Given the description of an element on the screen output the (x, y) to click on. 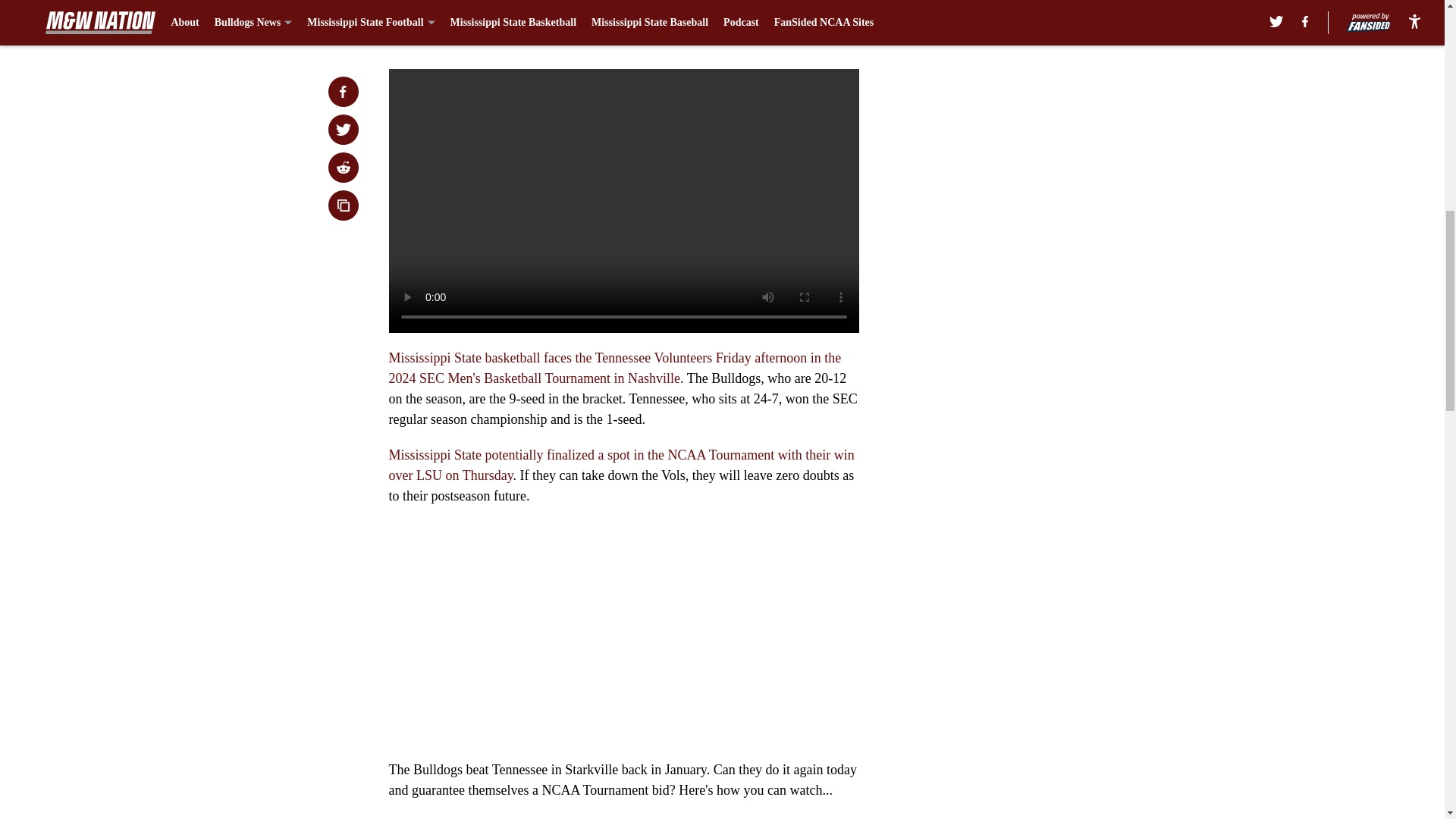
3rd party ad content (1047, 382)
3rd party ad content (1047, 162)
